Given the description of an element on the screen output the (x, y) to click on. 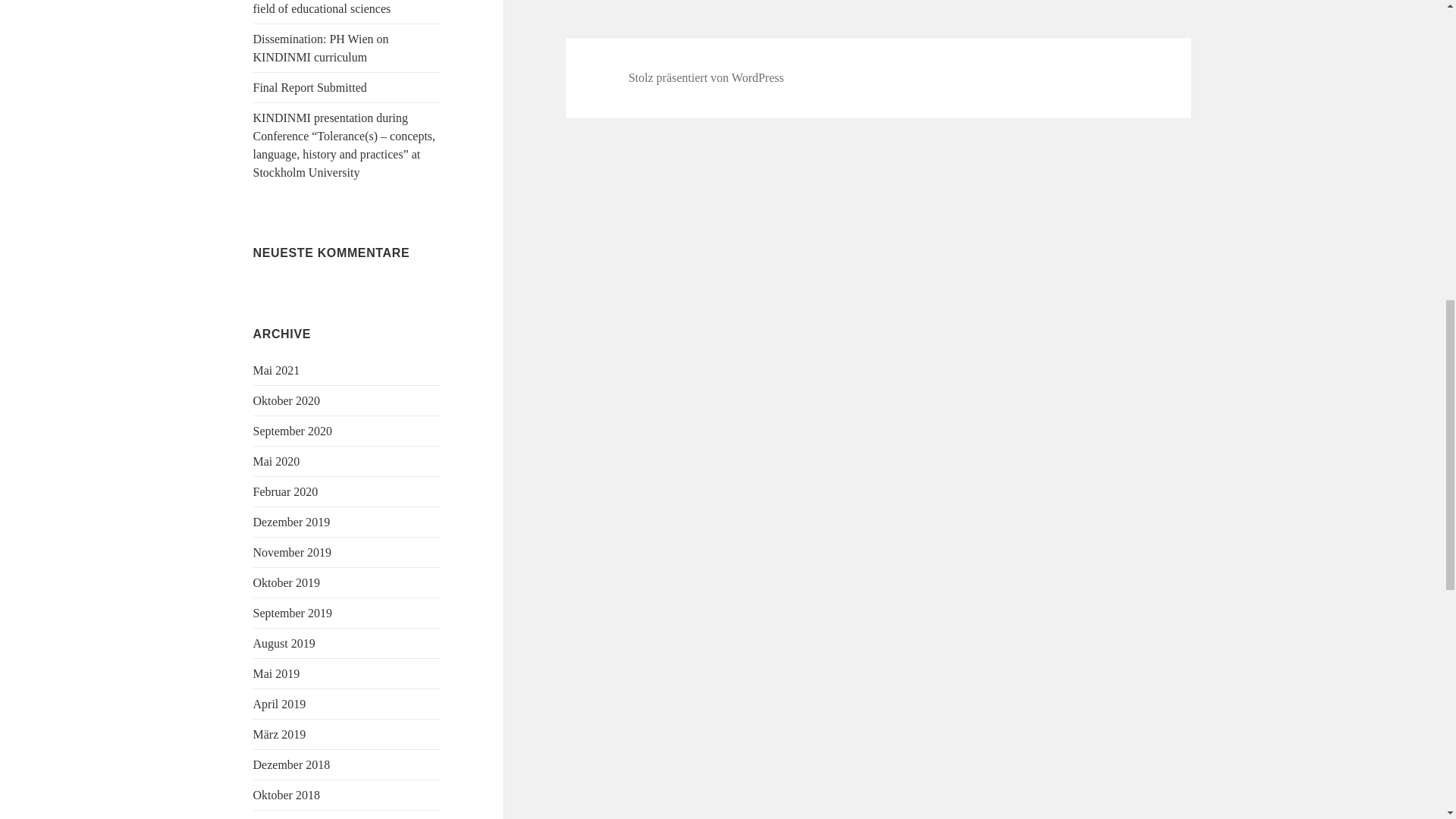
September 2019 (292, 612)
Dezember 2018 (291, 764)
September 2020 (292, 431)
Oktober 2019 (286, 582)
Oktober 2020 (286, 400)
Dissemination: PH Wien on KINDINMI curriculum (320, 47)
Final Report Submitted (309, 87)
Februar 2020 (285, 491)
Dezember 2019 (291, 521)
Oktober 2018 (286, 794)
